Given the description of an element on the screen output the (x, y) to click on. 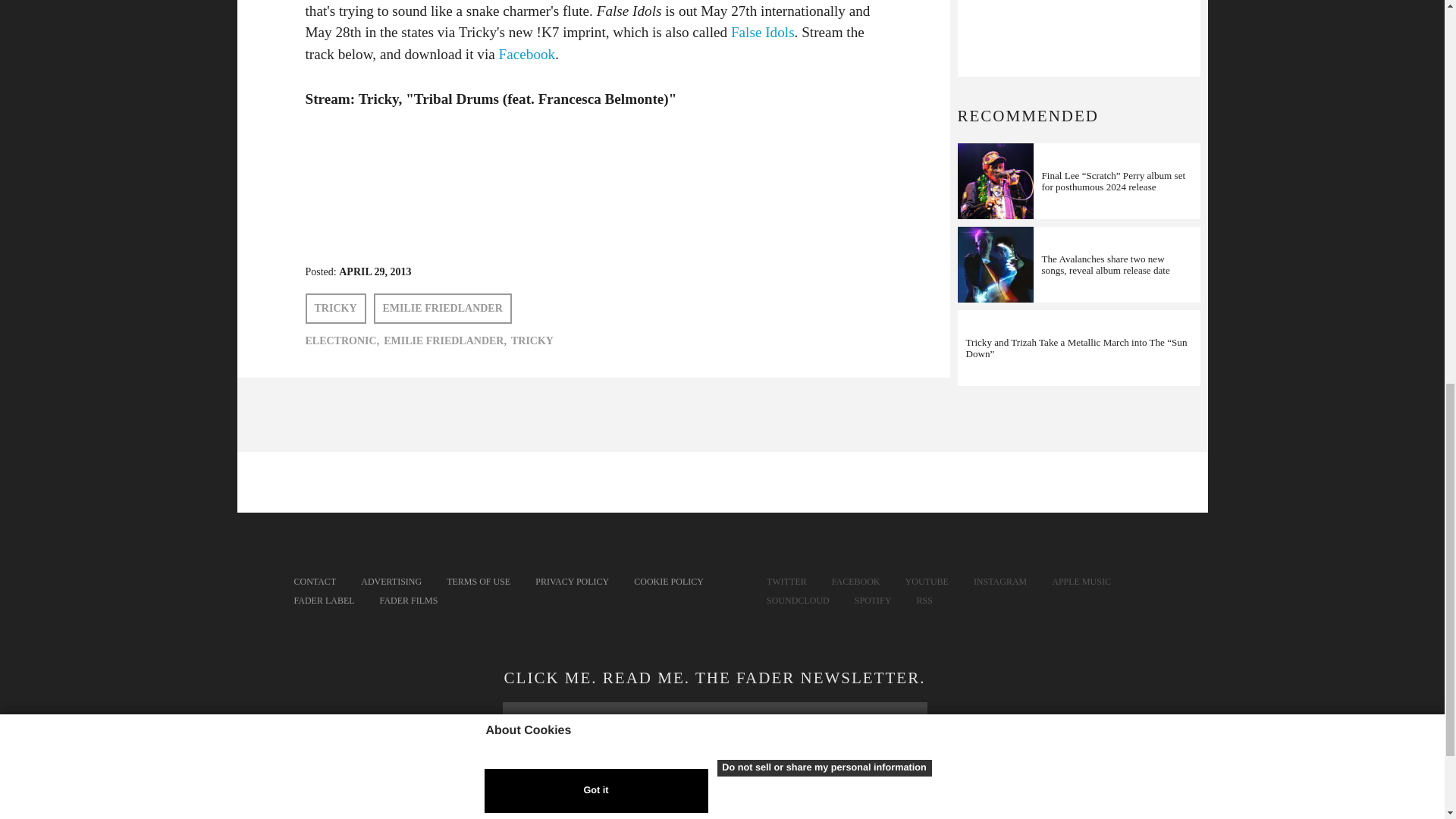
Sign Up (714, 791)
